Given the description of an element on the screen output the (x, y) to click on. 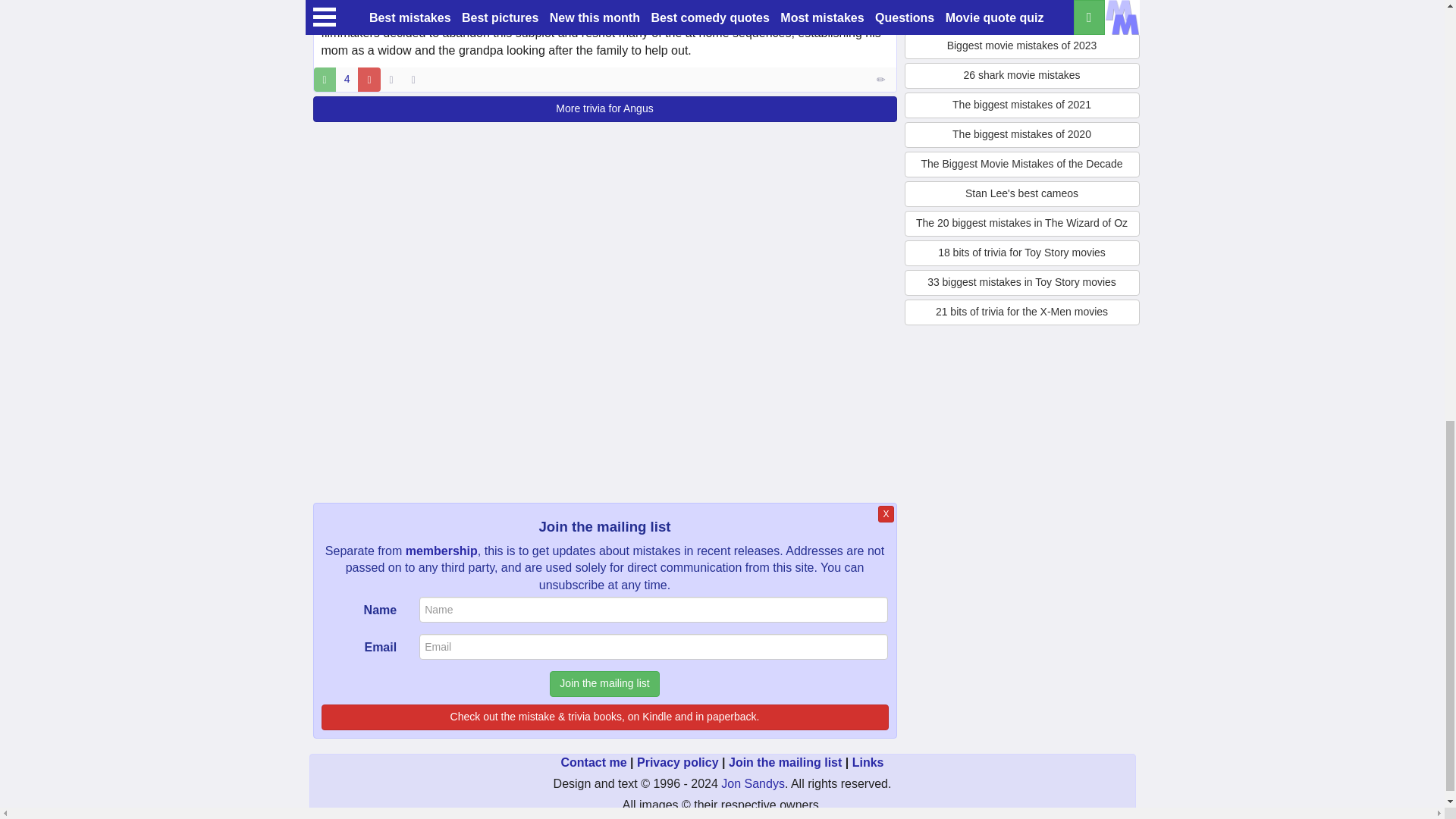
I like this (325, 79)
I dislike this (369, 79)
